Given the description of an element on the screen output the (x, y) to click on. 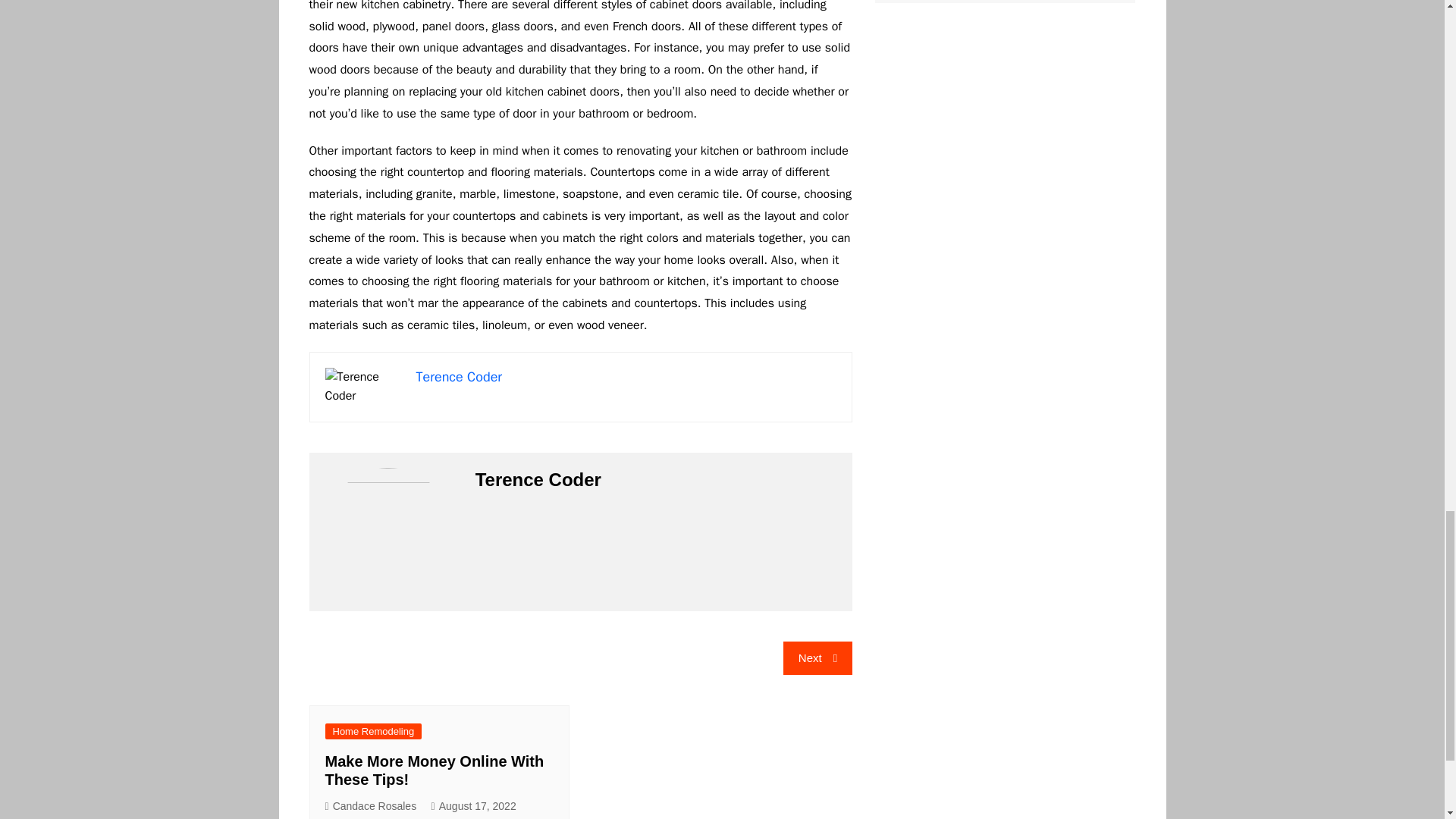
Candace Rosales (370, 805)
Next (817, 657)
Terence Coder (458, 376)
Home Remodeling (373, 731)
August 17, 2022 (473, 805)
Make More Money Online With These Tips! (433, 769)
